Given the description of an element on the screen output the (x, y) to click on. 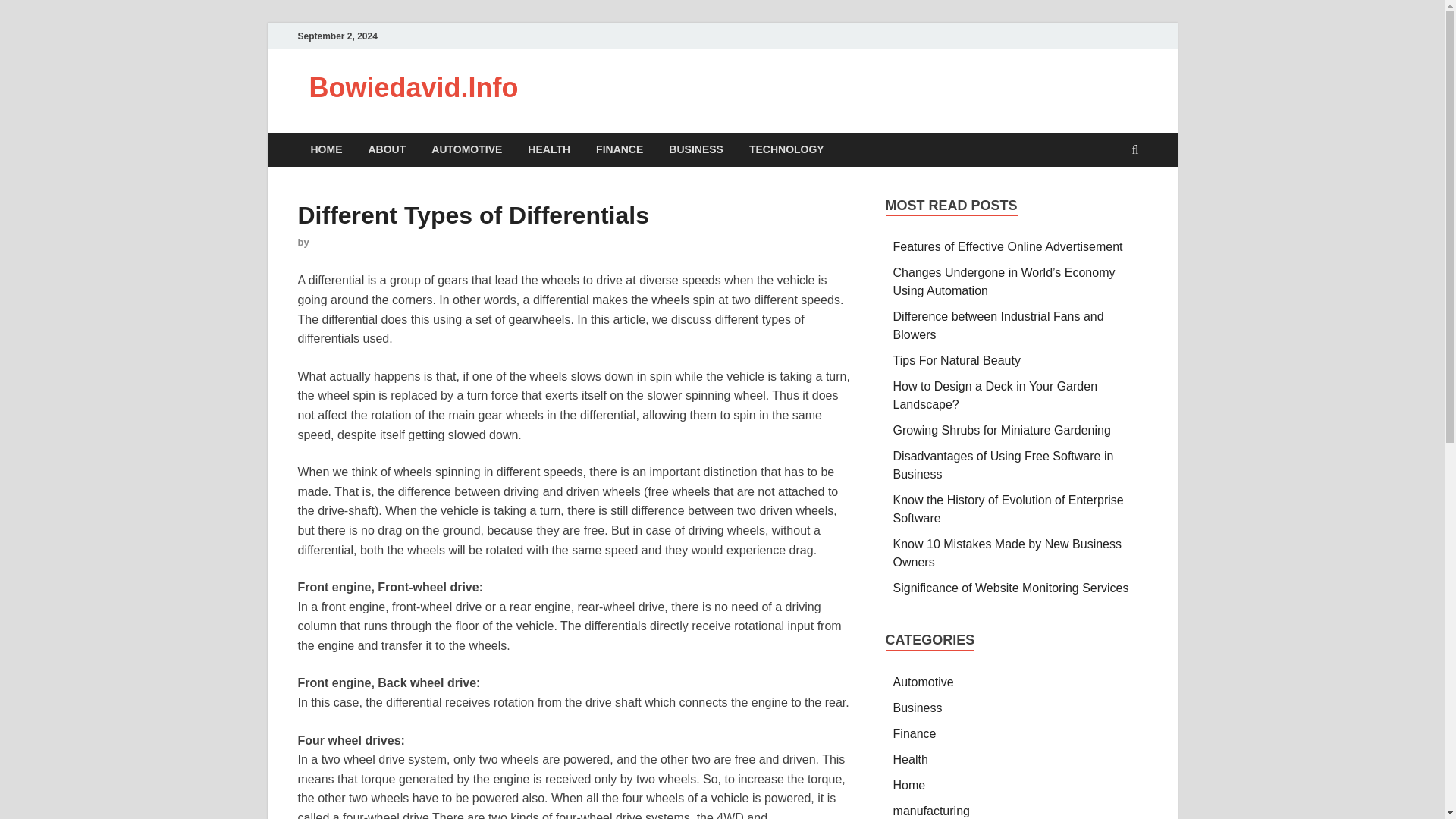
Health (910, 758)
Finance (914, 733)
Automotive (923, 681)
HEALTH (549, 149)
BUSINESS (696, 149)
Business (917, 707)
Difference between Industrial Fans and Blowers (998, 325)
Know 10 Mistakes Made by New Business Owners (1007, 552)
Tips For Natural Beauty (956, 359)
Disadvantages of Using Free Software in Business (1003, 464)
